Given the description of an element on the screen output the (x, y) to click on. 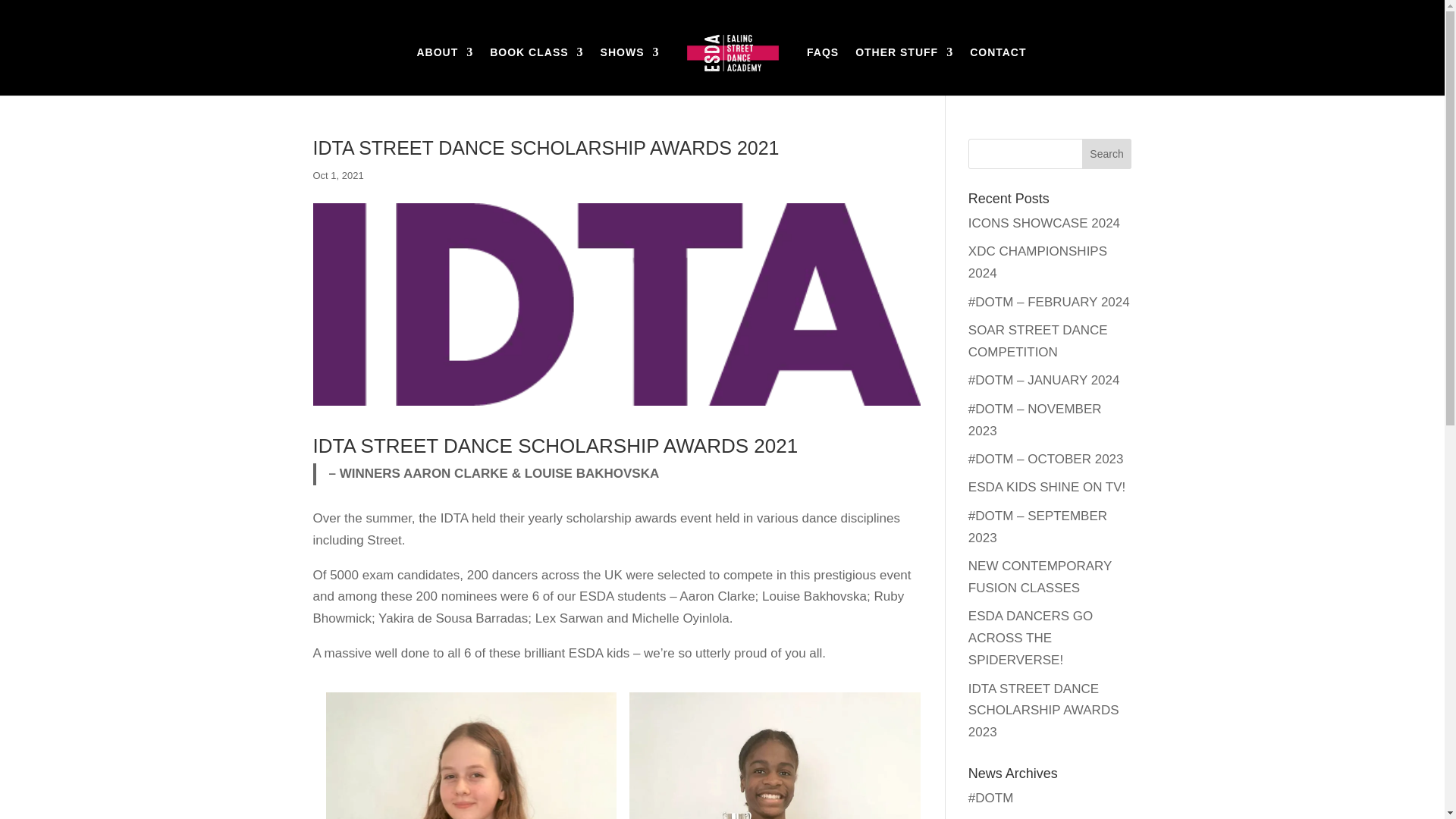
SHOWS (629, 70)
CONTACT (997, 70)
OTHER STUFF (904, 70)
BOOK CLASS (536, 70)
Search (1106, 153)
ABOUT (444, 70)
